Given the description of an element on the screen output the (x, y) to click on. 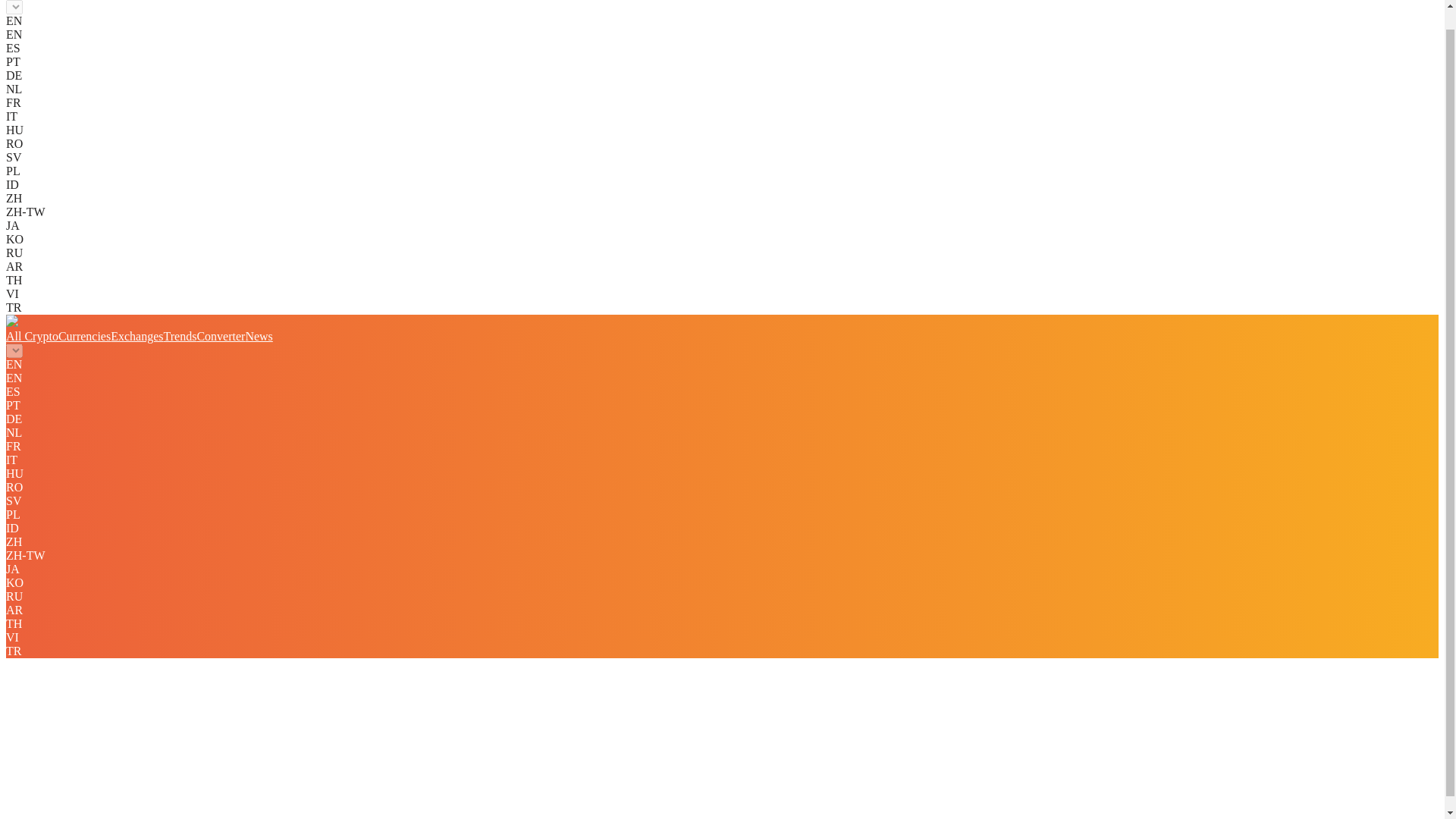
All CryptoCurrencies (57, 336)
News (258, 336)
Converter (220, 336)
Exchanges (136, 336)
Trends (179, 336)
